Given the description of an element on the screen output the (x, y) to click on. 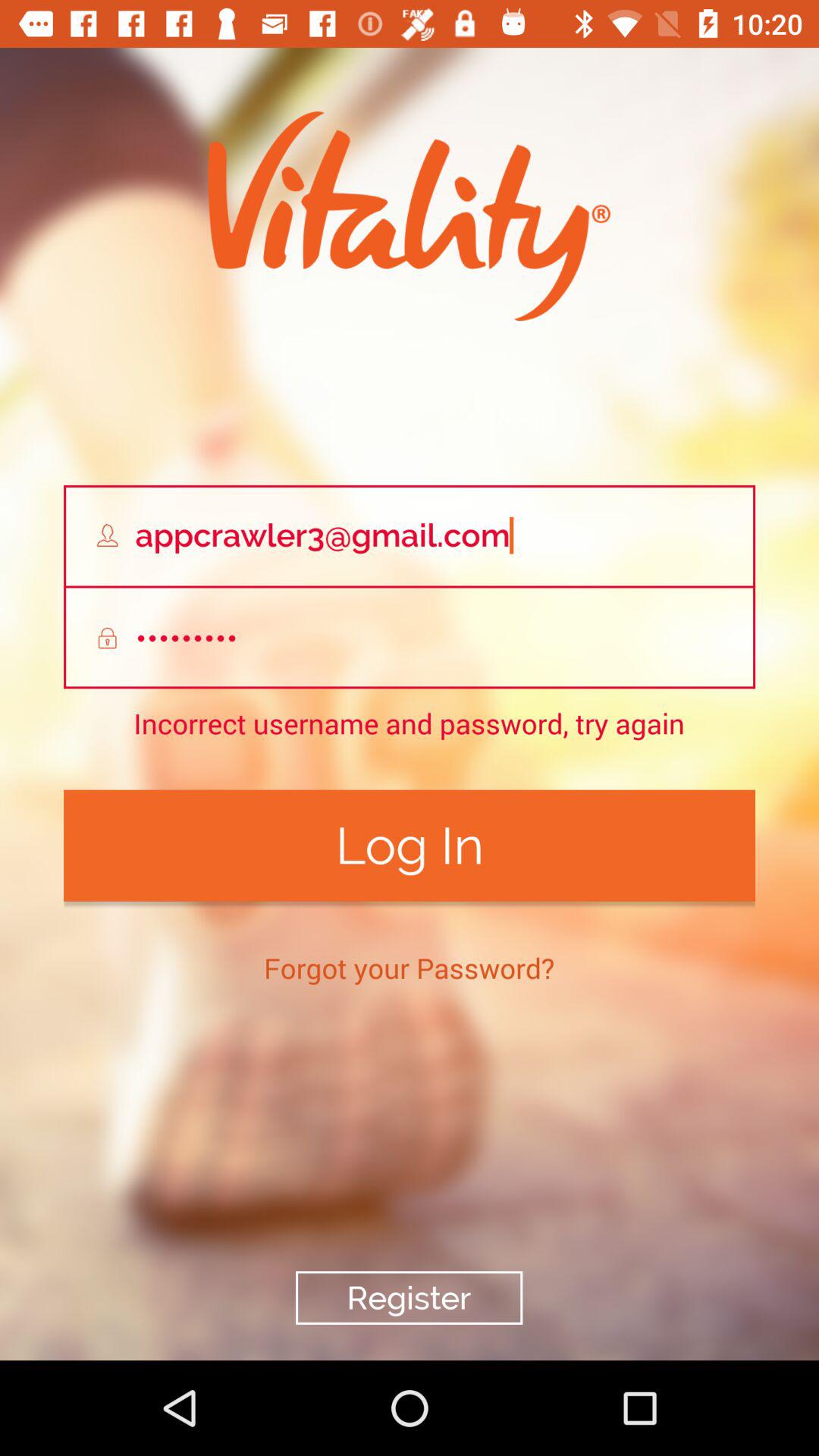
turn off the item below log in icon (408, 967)
